Given the description of an element on the screen output the (x, y) to click on. 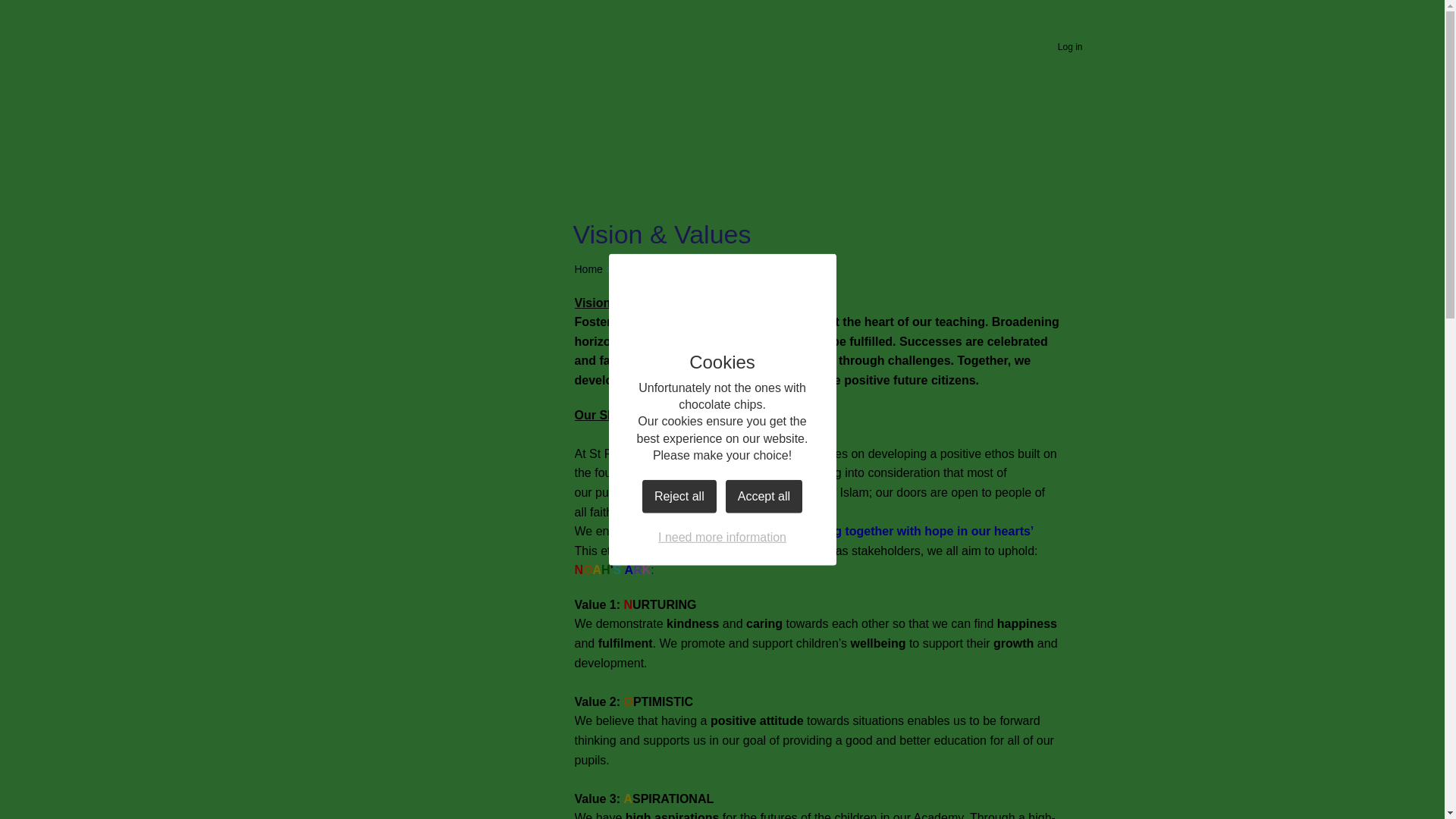
About Us (487, 200)
About Us (641, 268)
Home (588, 268)
Key Information (398, 229)
Home Page (696, 84)
Home (400, 166)
Home Page (696, 84)
Log in (1070, 47)
